Given the description of an element on the screen output the (x, y) to click on. 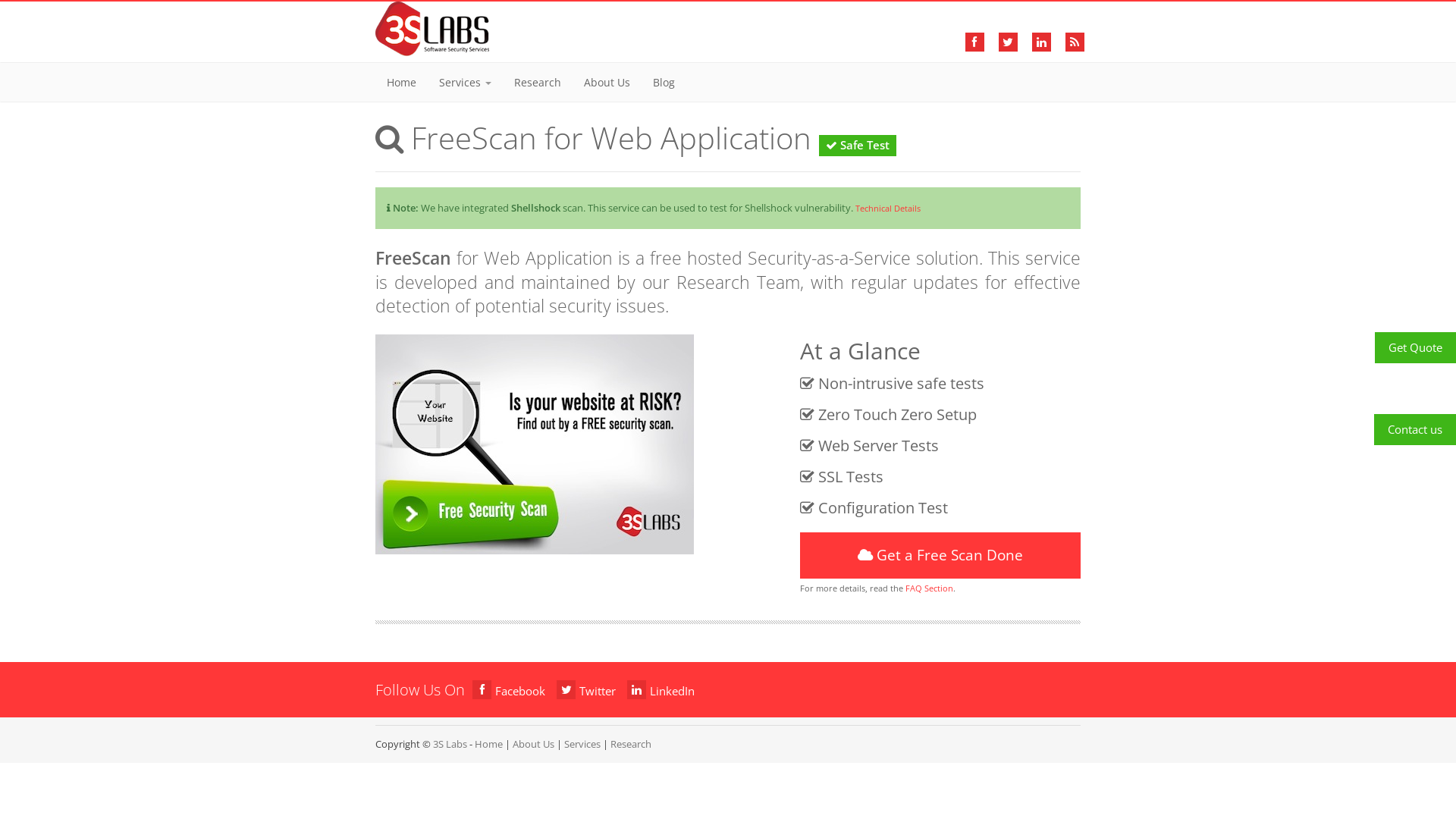
About Us Element type: text (533, 743)
Services Element type: text (582, 743)
LinkedIn Element type: text (660, 690)
Twitter Element type: text (585, 690)
FAQ Section Element type: text (929, 587)
Services Element type: text (464, 81)
Get a Free Scan Done Element type: text (940, 555)
Home Element type: text (488, 743)
3S Labs Element type: text (450, 743)
Facebook Element type: text (508, 690)
Research Element type: text (537, 81)
Technical Details Element type: text (887, 207)
About Us Element type: text (606, 81)
Research Element type: text (630, 743)
Blog Element type: text (663, 81)
Home Element type: text (401, 81)
